Given the description of an element on the screen output the (x, y) to click on. 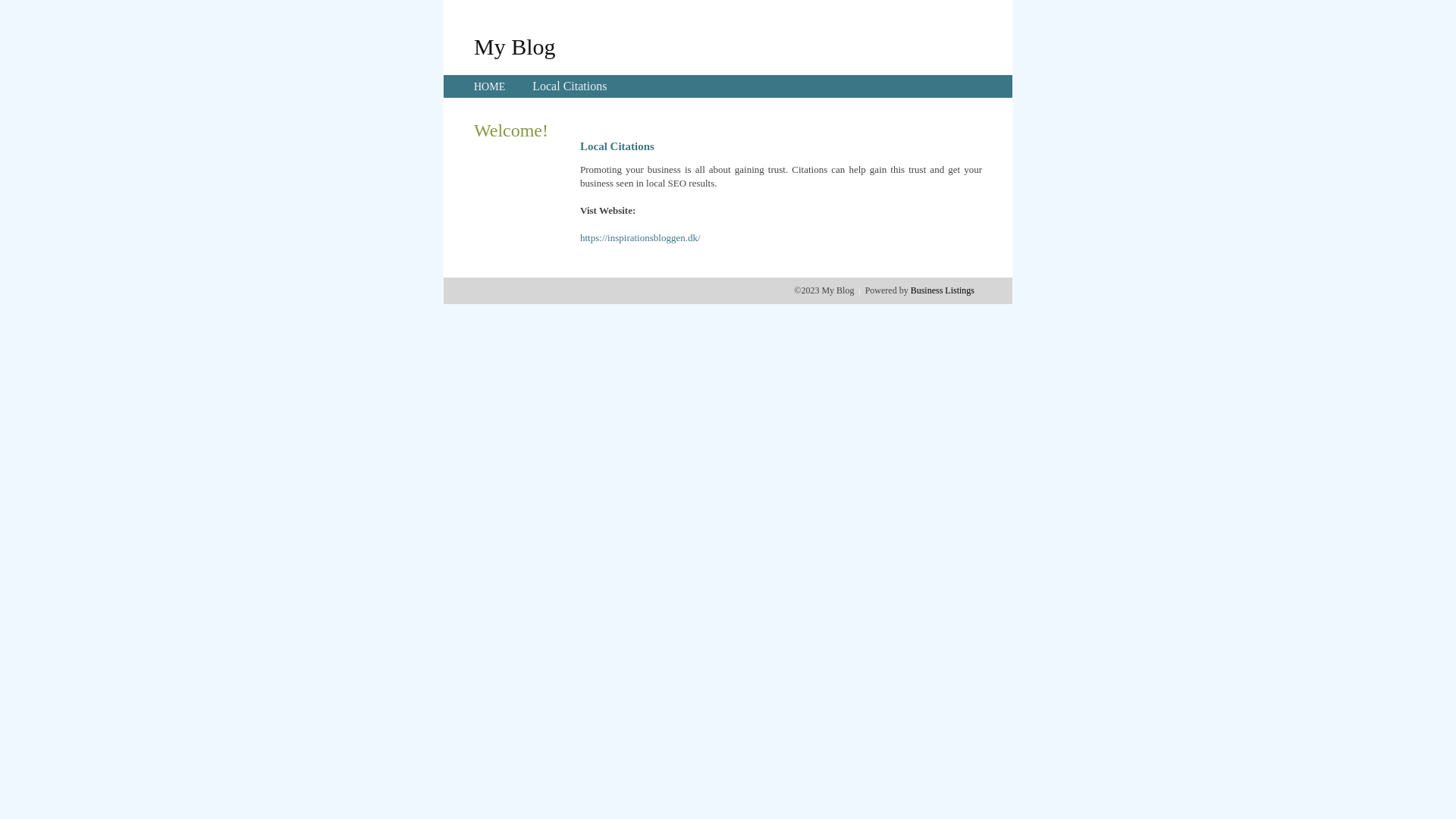
My Blog Element type: text (514, 46)
Business Listings Element type: text (942, 290)
HOME Element type: text (489, 86)
Local Citations Element type: text (569, 85)
https://inspirationsbloggen.dk/ Element type: text (640, 237)
